Given the description of an element on the screen output the (x, y) to click on. 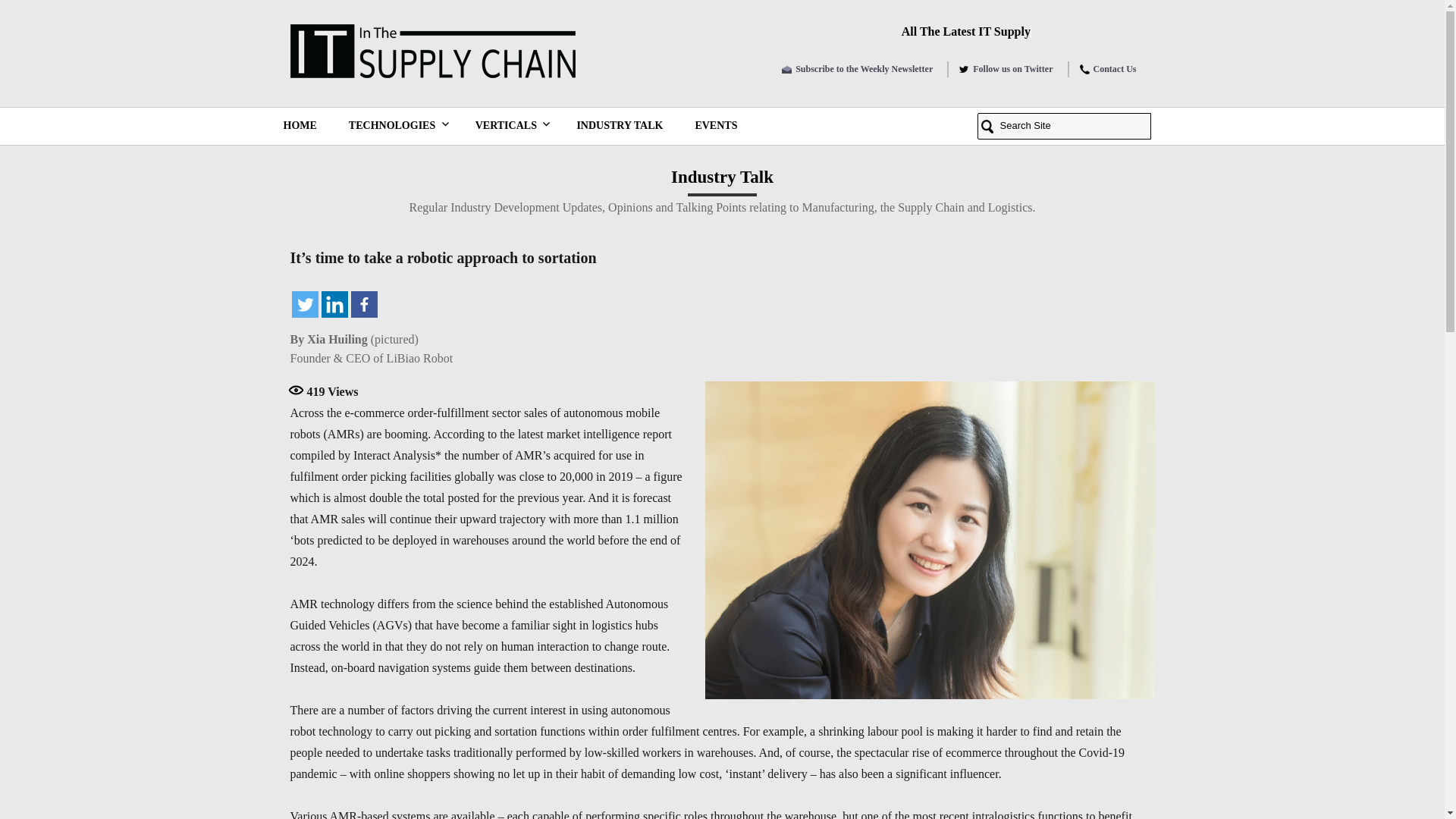
All The Latest IT Supply (965, 29)
Contact Us (1115, 68)
Facebook (363, 304)
Follow us on Twitter (1012, 68)
Twitter (304, 304)
Subscribe to the Weekly Newsletter (863, 68)
HOME (298, 125)
VERTICALS (510, 125)
TECHNOLOGIES (396, 125)
Linkedin (334, 304)
